Given the description of an element on the screen output the (x, y) to click on. 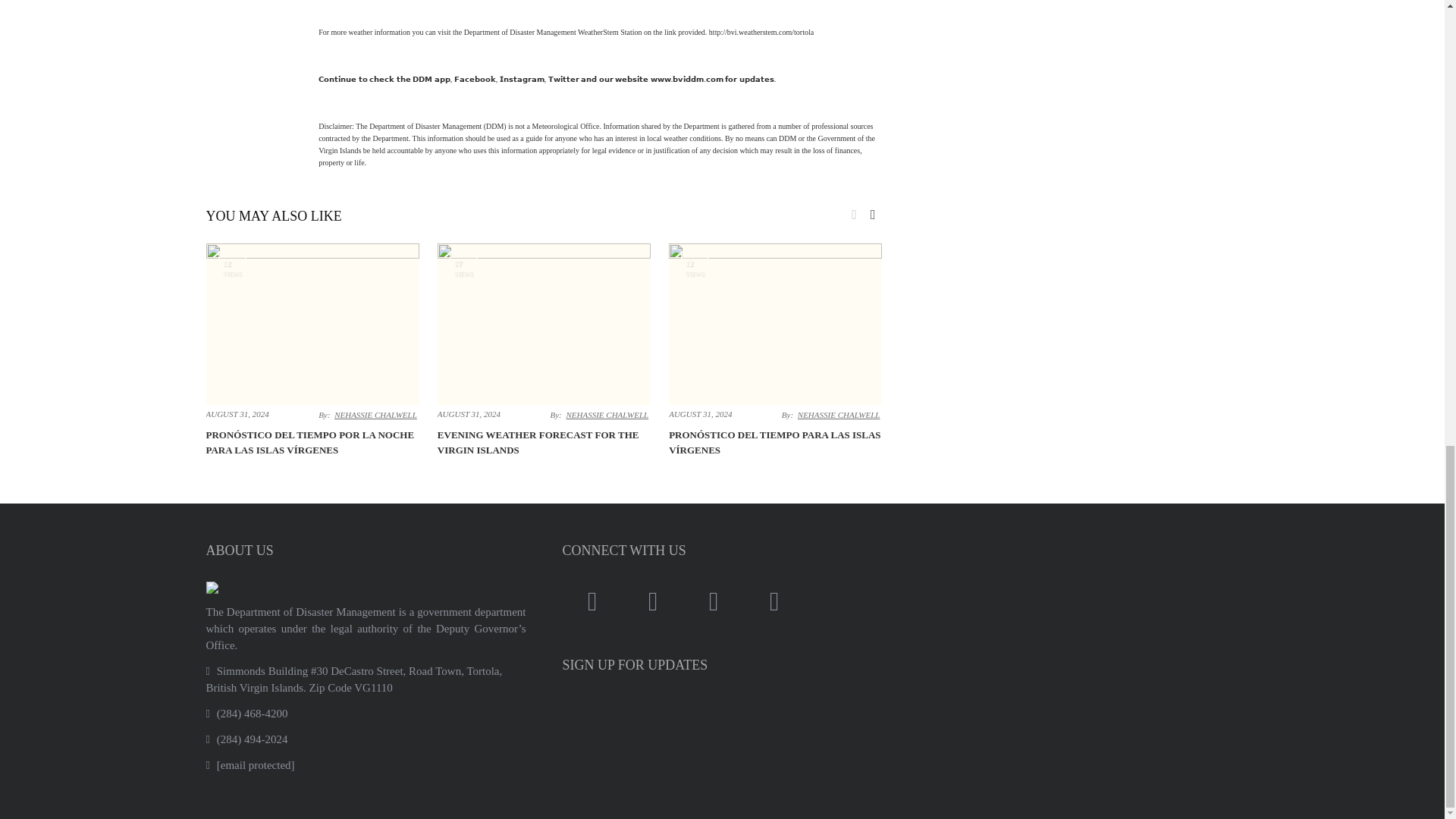
twitter (652, 602)
Evening Weather Forecast For The Virgin Islands (538, 442)
facebook (592, 602)
